Given the description of an element on the screen output the (x, y) to click on. 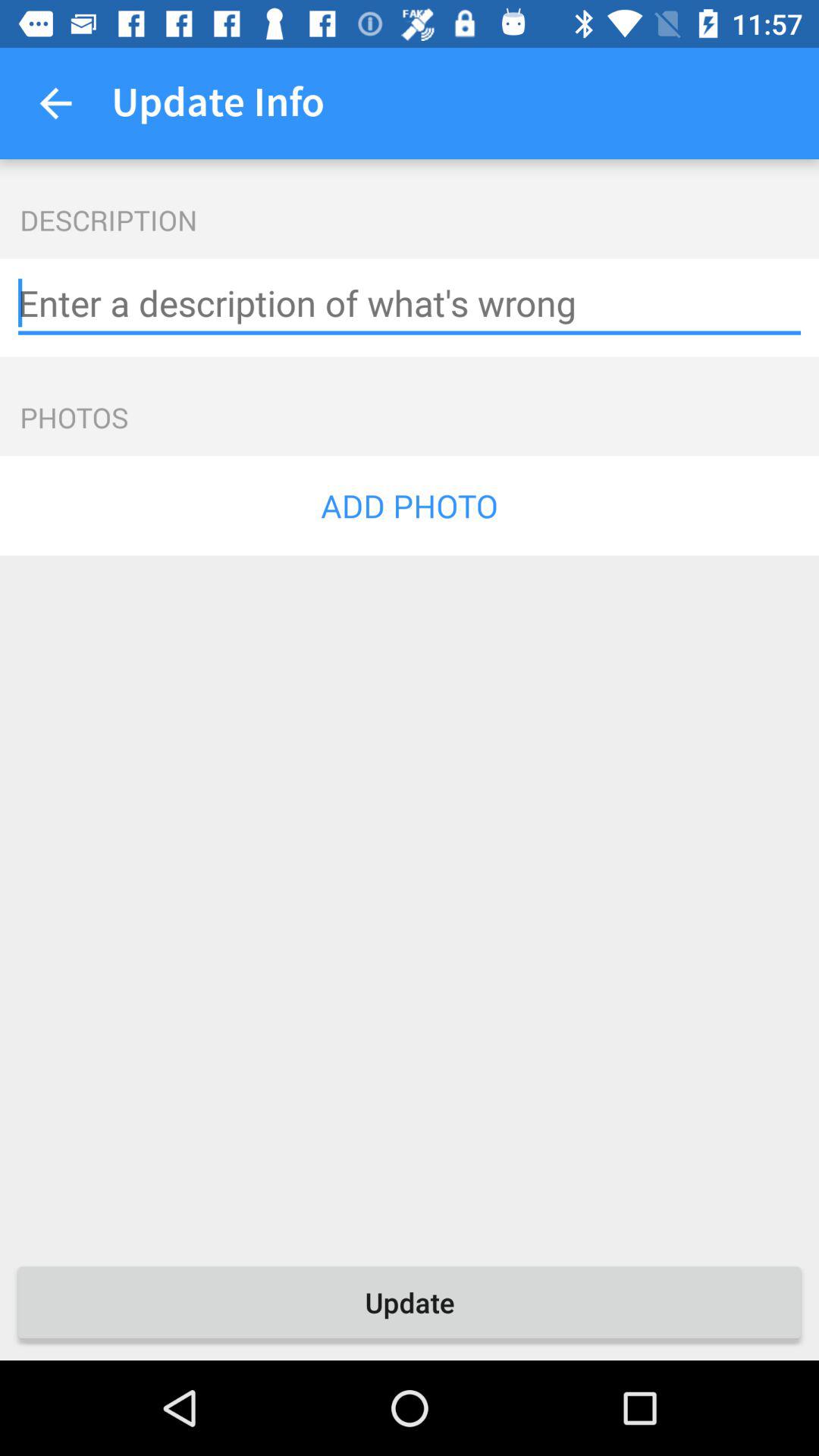
turn off icon next to update info item (55, 103)
